Given the description of an element on the screen output the (x, y) to click on. 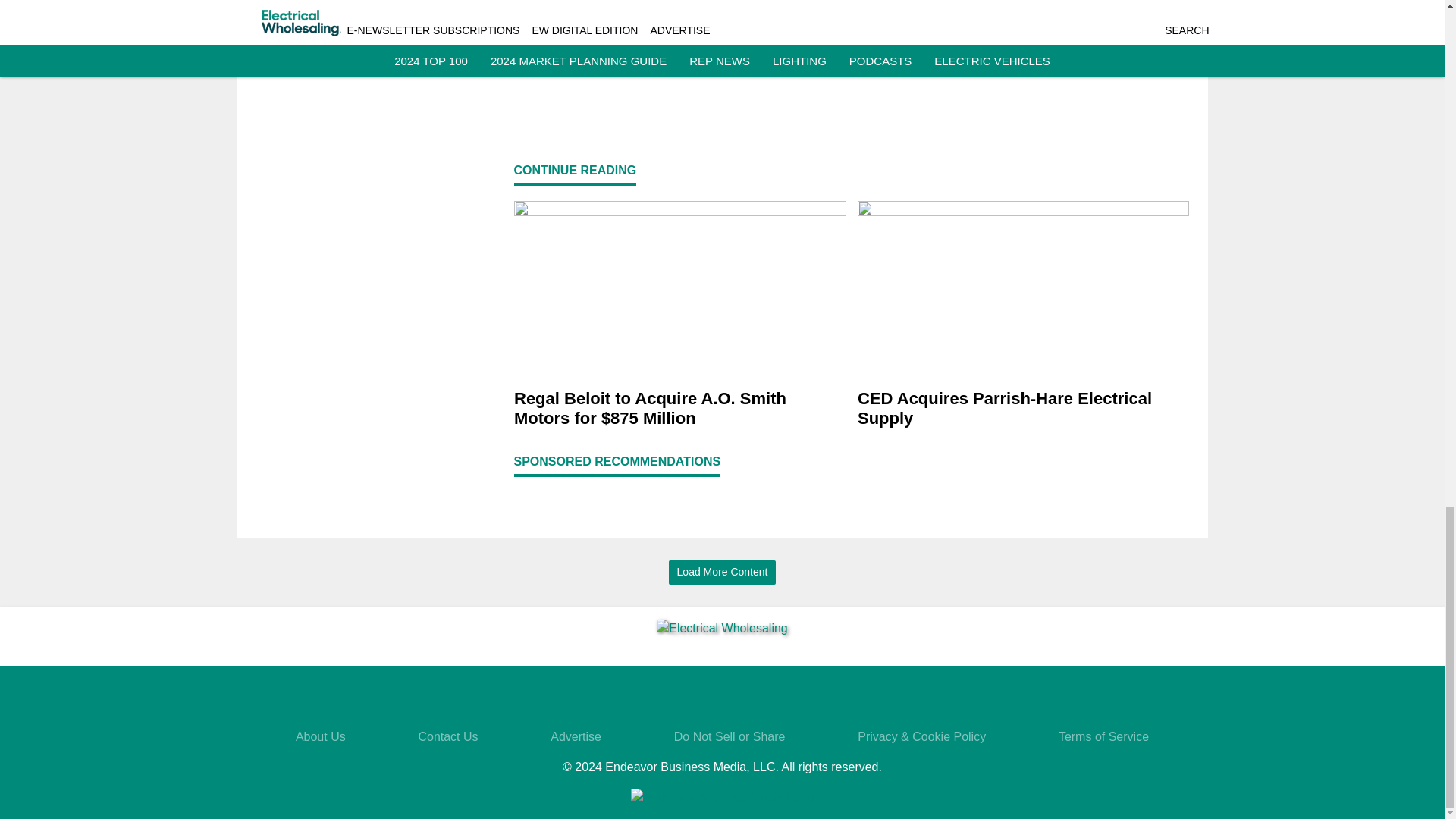
Contact Us (447, 736)
About Us (320, 736)
Terms of Service (1103, 736)
Do Not Sell or Share (730, 736)
Load More Content (722, 571)
CED Acquires Parrish-Hare Electrical Supply (1023, 409)
Advertise (575, 736)
